Given the description of an element on the screen output the (x, y) to click on. 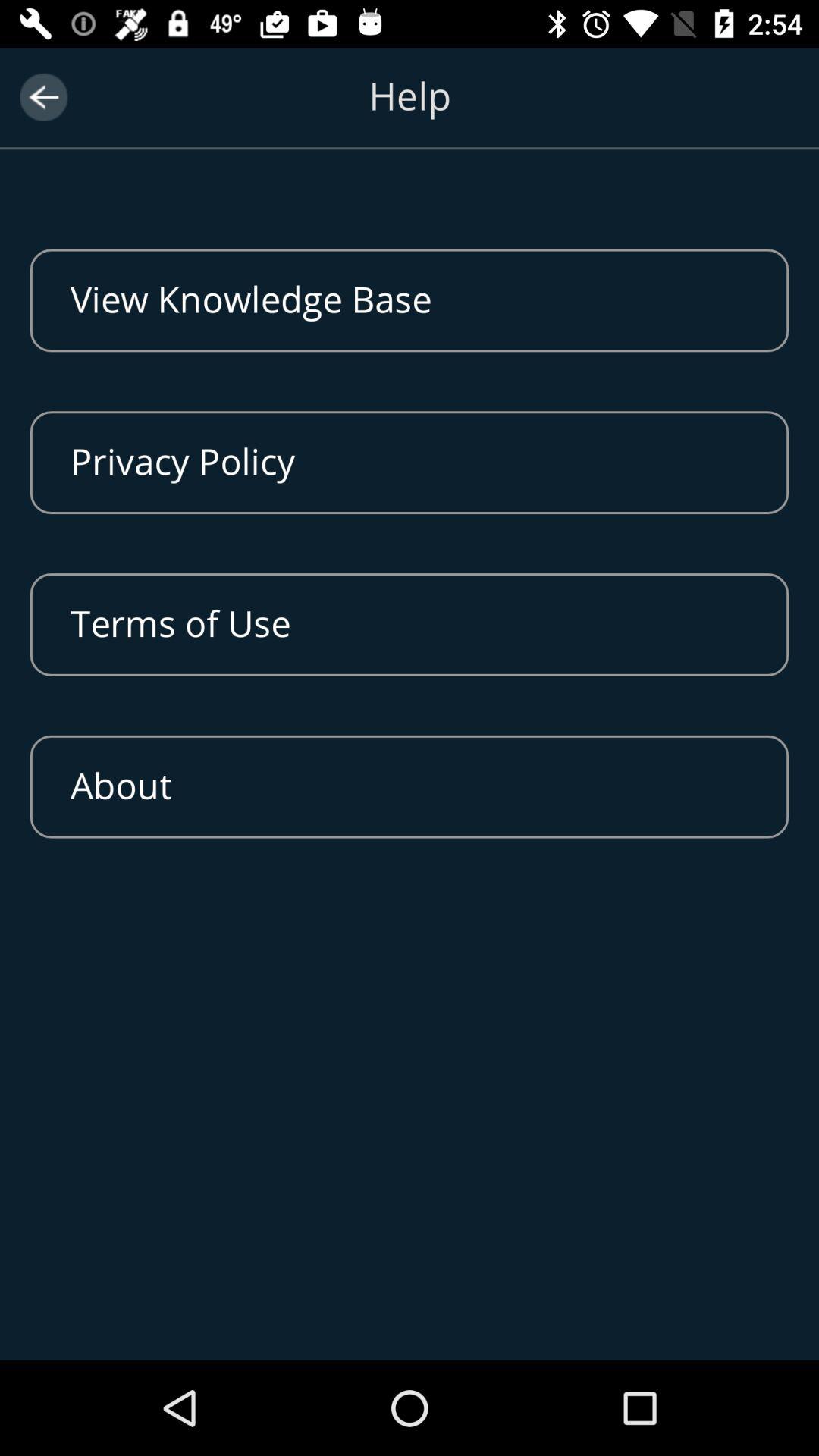
click the button on the top left corner of the web page (43, 97)
move to the text next to back arrow (409, 114)
click on the last button on the page (409, 786)
